Given the description of an element on the screen output the (x, y) to click on. 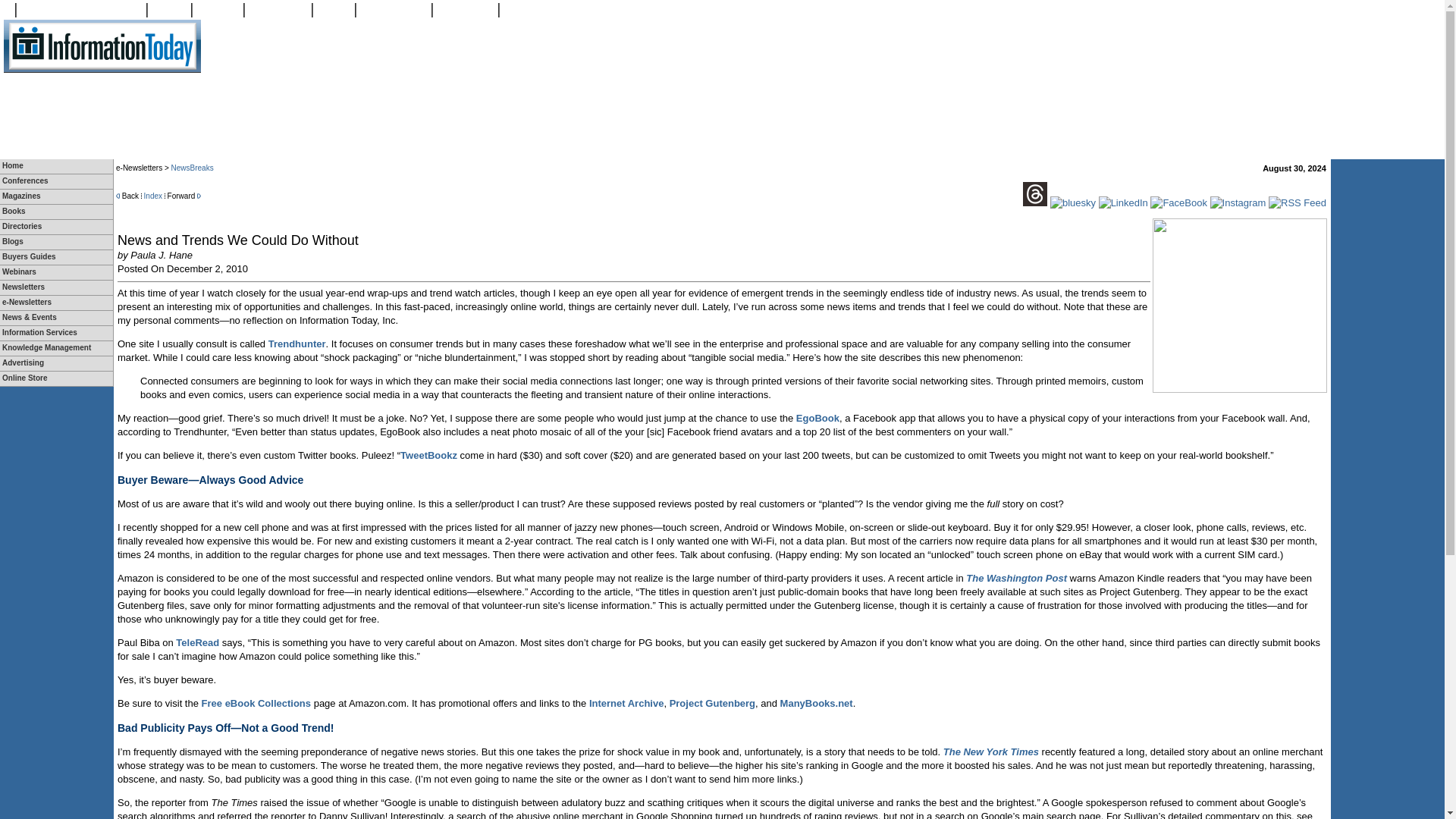
Magazines (56, 196)
Faulkner (334, 9)
Home (56, 165)
Find other articles by Paula J. Hane (161, 255)
Information Today, Inc. Corporate Site (81, 9)
Speech Technology (393, 9)
Streaming Media (277, 9)
Conferences (56, 181)
CRM Media (218, 9)
KMWorld (169, 9)
